Given the description of an element on the screen output the (x, y) to click on. 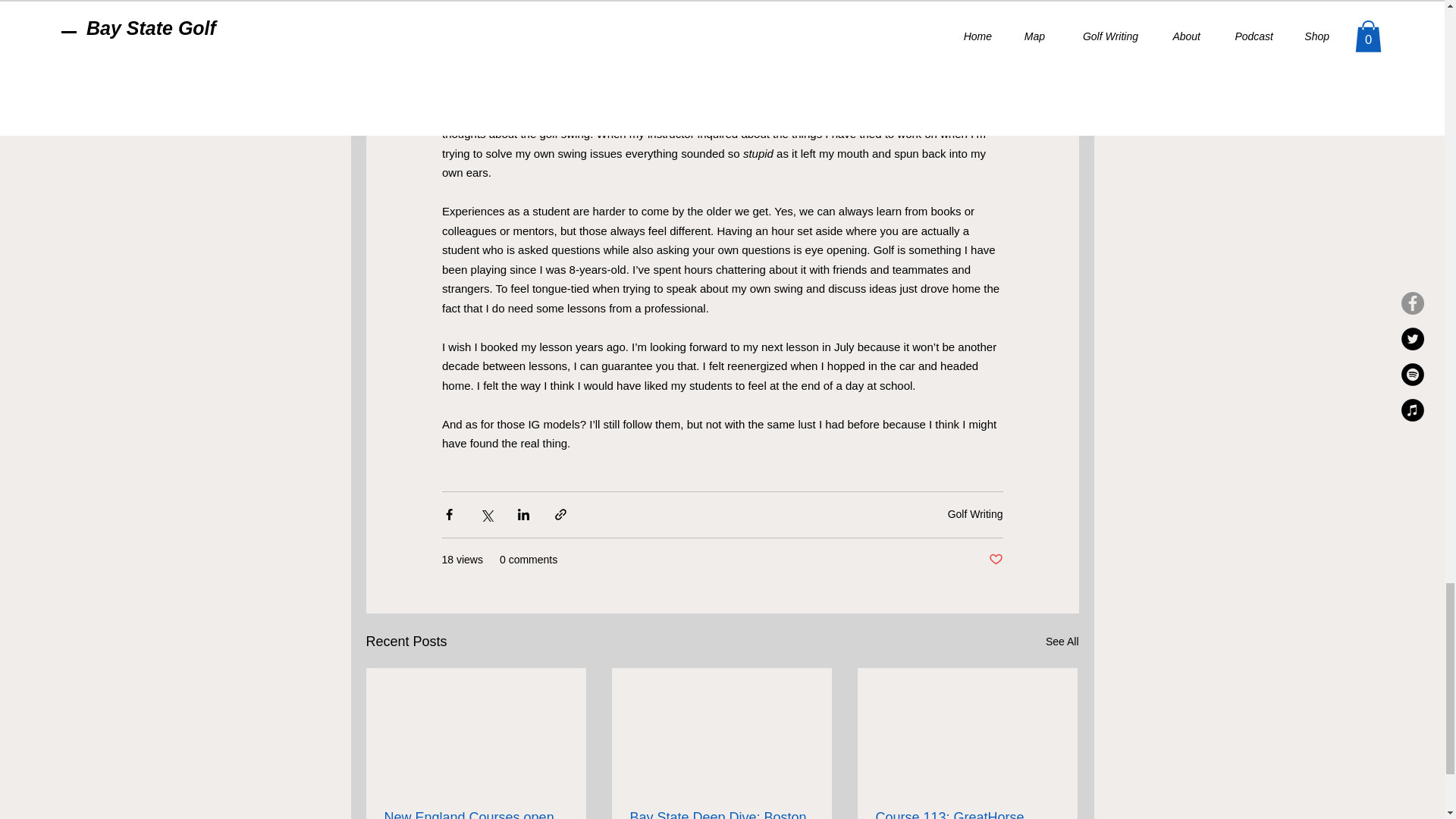
Post not marked as liked (995, 560)
Golf Writing (975, 513)
See All (1061, 641)
Course 113: GreatHorse (966, 814)
Bay State Deep Dive: Boston Golf Club (720, 814)
New England Courses open in the winter (475, 814)
